Given the description of an element on the screen output the (x, y) to click on. 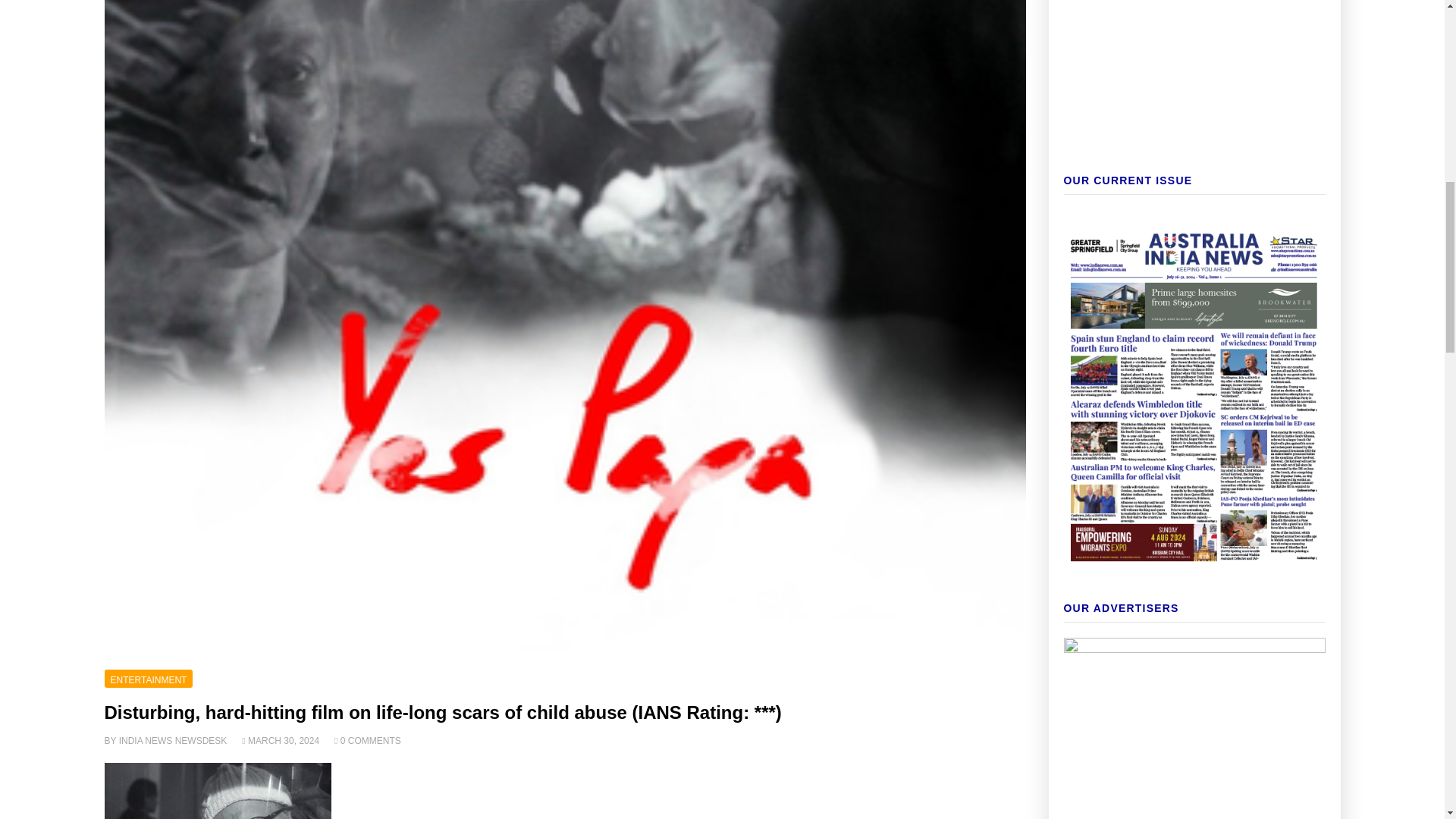
YouTube video player (1193, 9)
Lyra-Homes-Buyers-agency-902x1251 (1193, 728)
YouTube video player (1193, 92)
